Given the description of an element on the screen output the (x, y) to click on. 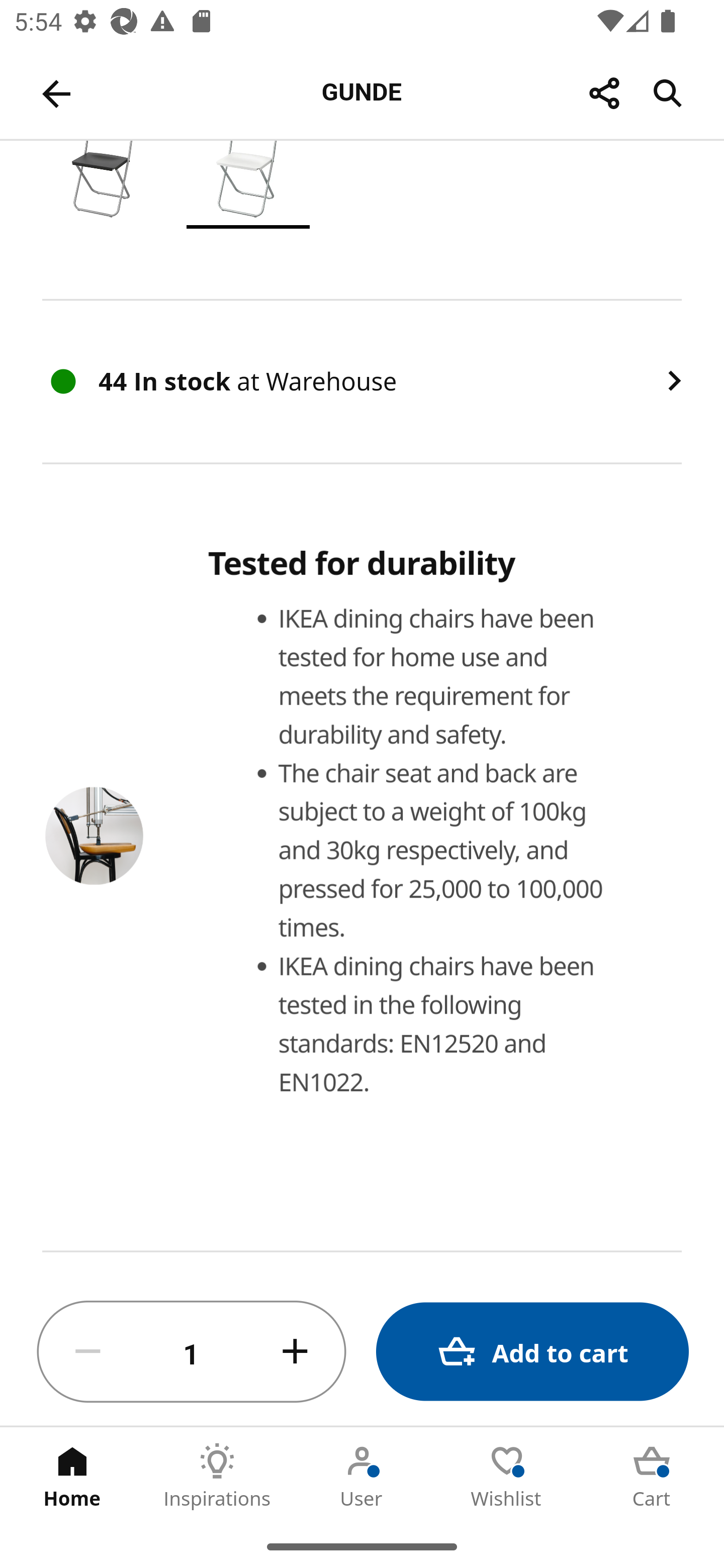
44 In stock at Warehouse (361, 381)
Add to cart (531, 1352)
1 (191, 1352)
Home
Tab 1 of 5 (72, 1476)
Inspirations
Tab 2 of 5 (216, 1476)
User
Tab 3 of 5 (361, 1476)
Wishlist
Tab 4 of 5 (506, 1476)
Cart
Tab 5 of 5 (651, 1476)
